Given the description of an element on the screen output the (x, y) to click on. 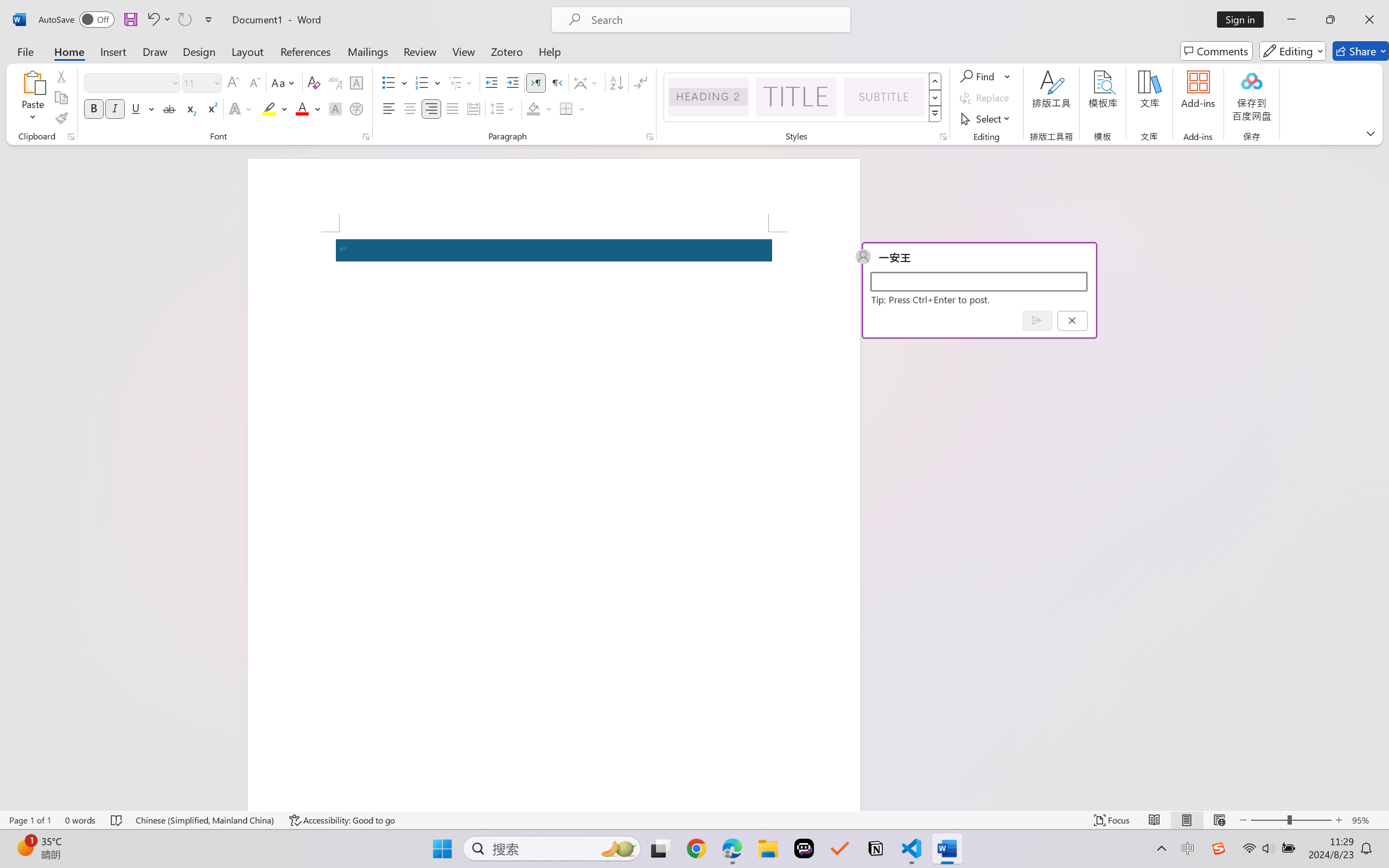
Language Chinese (Simplified, Mainland China) (205, 819)
